Given the description of an element on the screen output the (x, y) to click on. 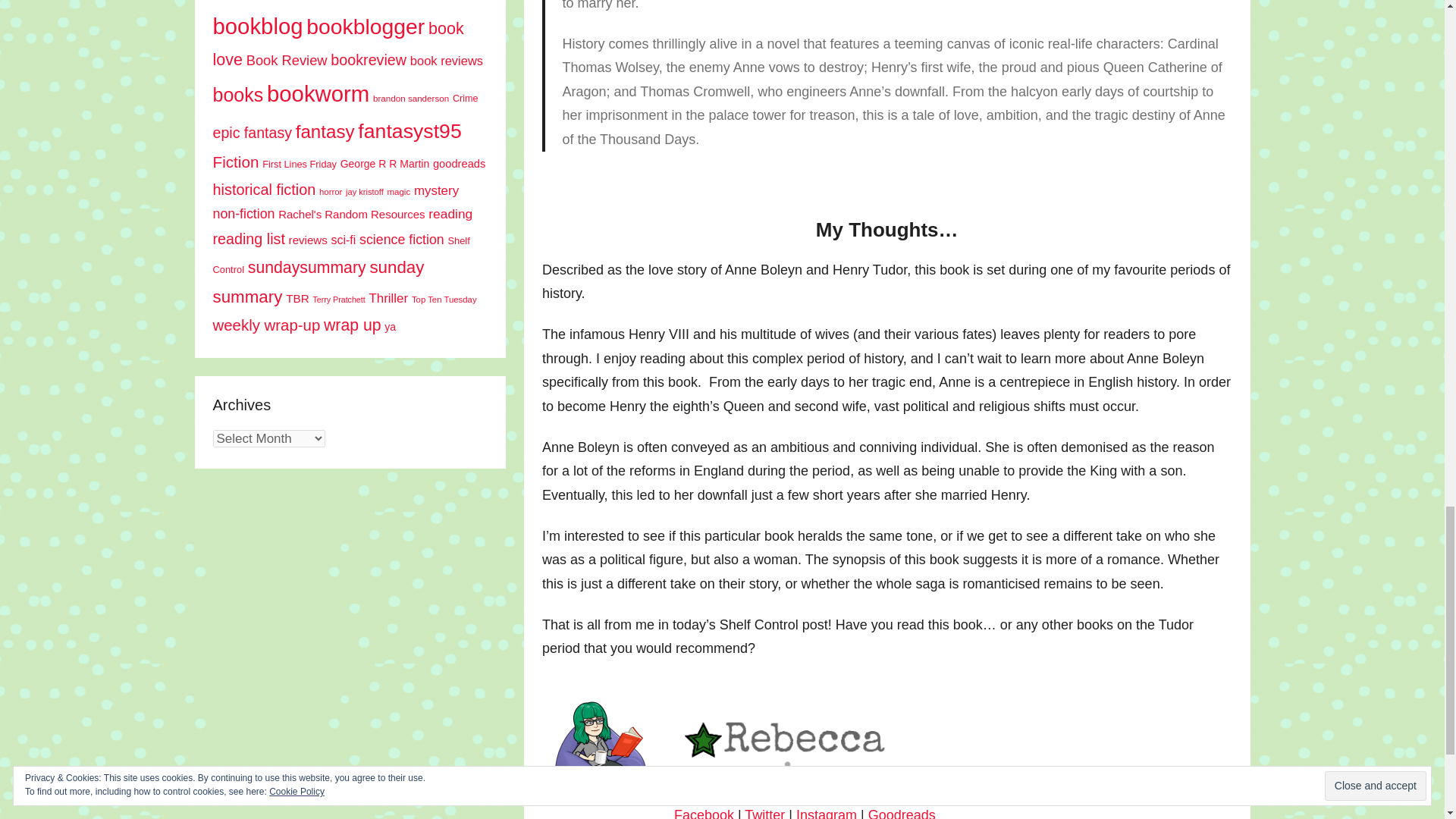
Instagram (826, 813)
Goodreads (901, 813)
Facebook (703, 813)
Twitter (764, 813)
